Given the description of an element on the screen output the (x, y) to click on. 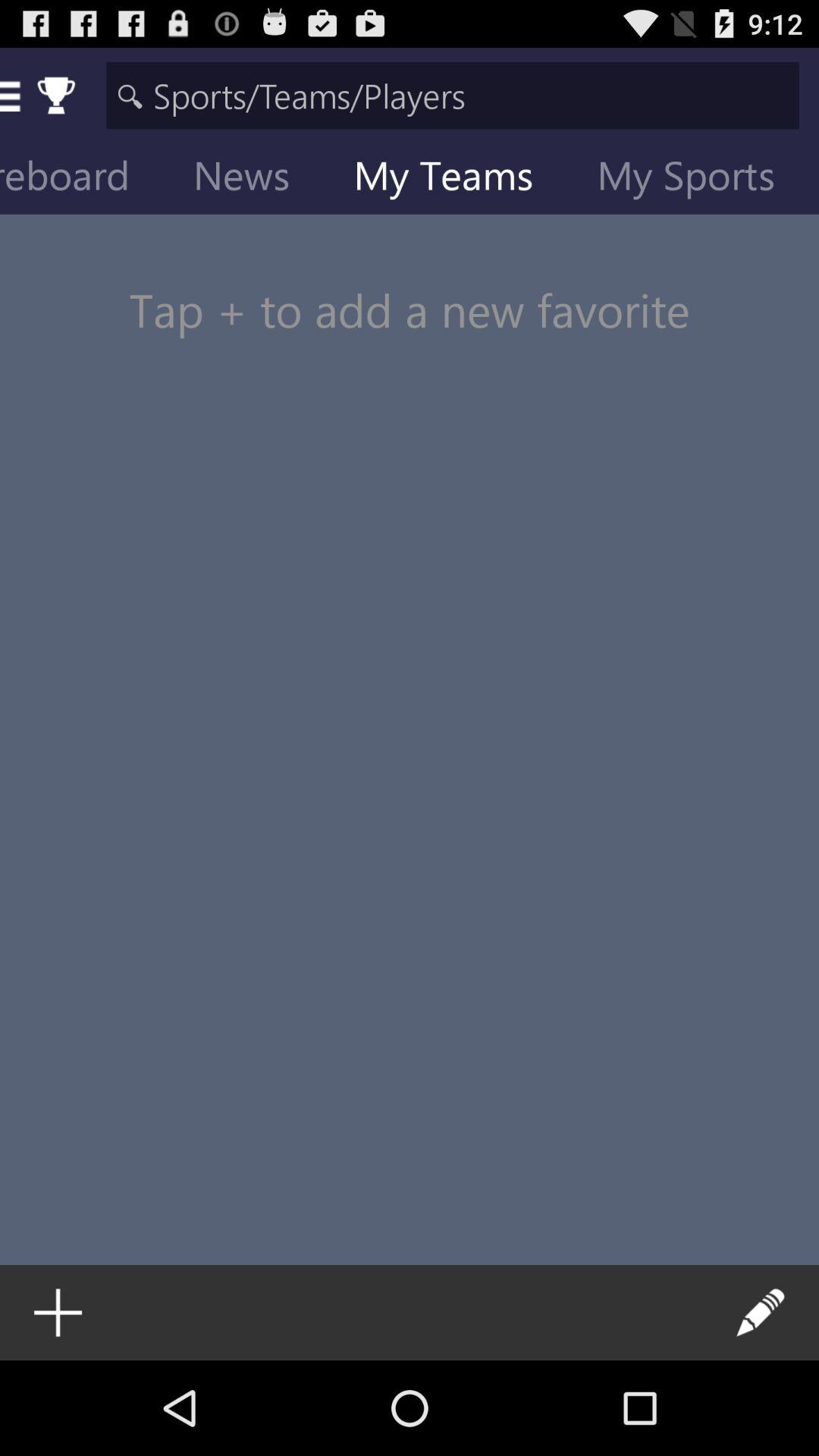
press the item next to the my teams item (698, 178)
